Given the description of an element on the screen output the (x, y) to click on. 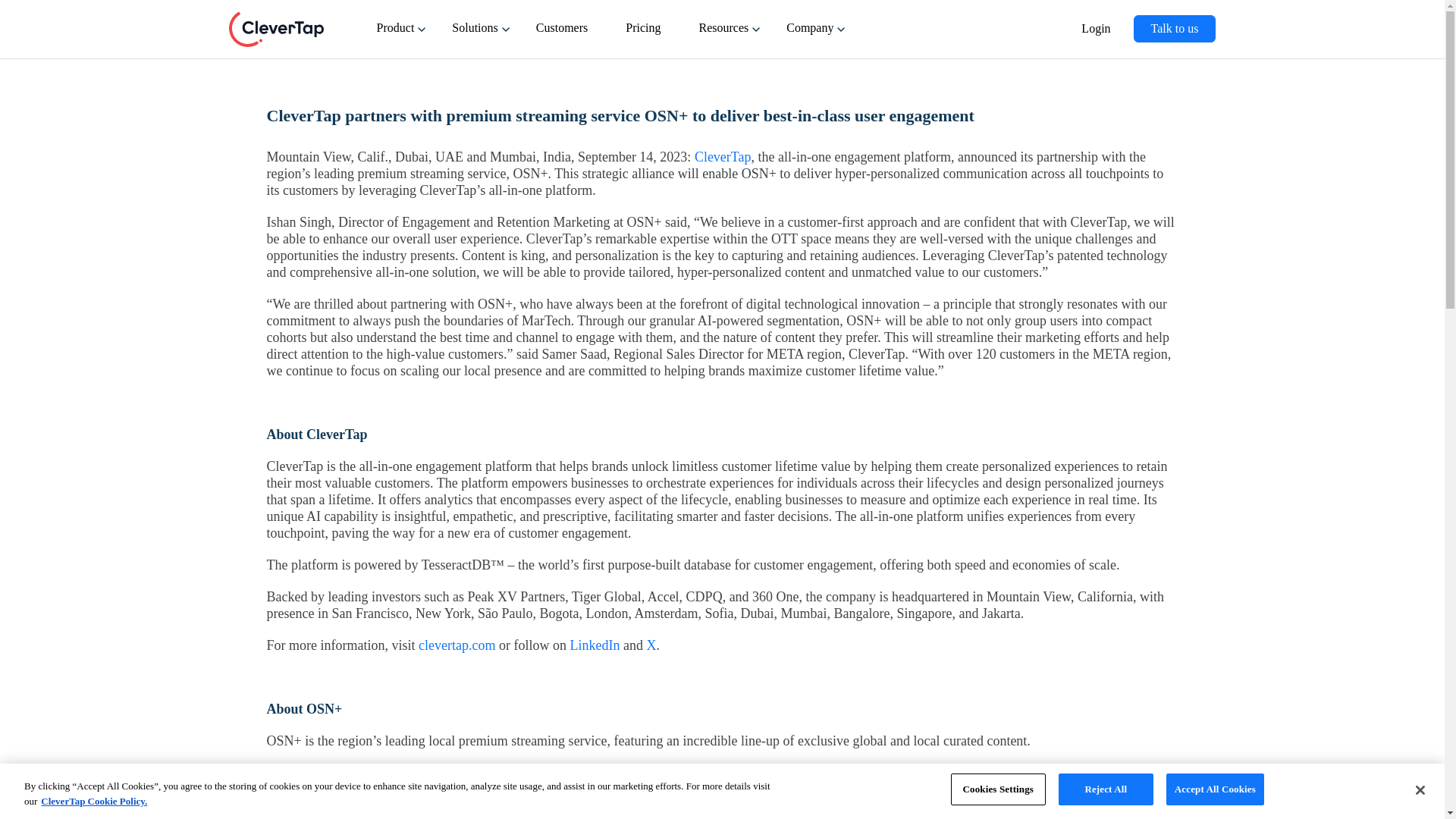
Pricing (646, 37)
Customers (565, 37)
Login (1098, 37)
Product (399, 37)
Company (813, 37)
Talk to us (1174, 28)
Resources (726, 37)
Solutions (477, 37)
CleverTap (275, 29)
